Given the description of an element on the screen output the (x, y) to click on. 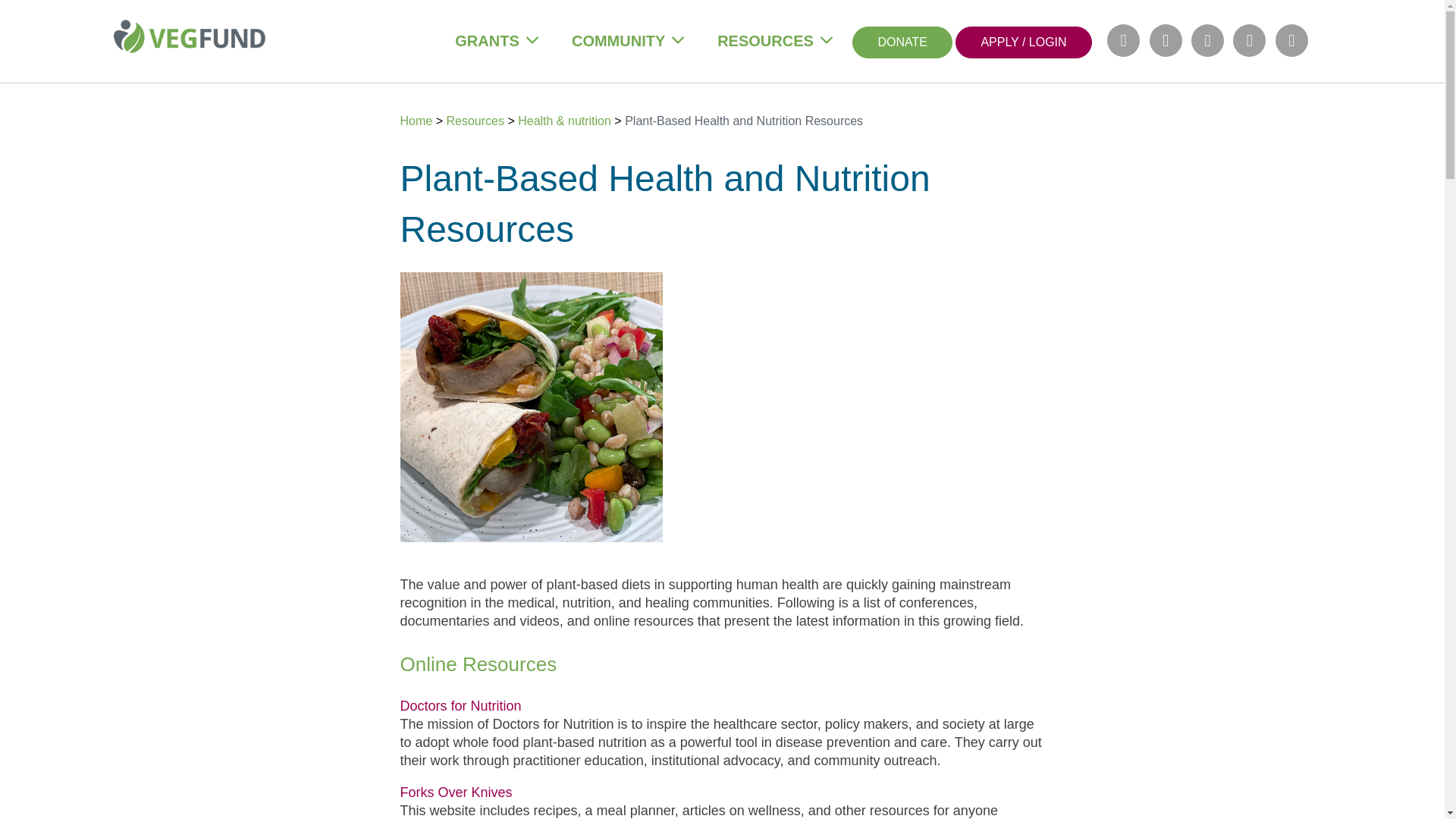
DONATE (901, 41)
Resources (475, 120)
LinkedIn (1207, 40)
Community (618, 40)
VegFund (188, 37)
Forks Over Knives (456, 792)
Facebook (1123, 40)
GRANTS (486, 40)
RESOURCES (765, 40)
Instagram (1166, 40)
Doctors for Nutrition (460, 705)
Resources (765, 40)
Grants (486, 40)
Plant-Based Health and Nutrition Resources (743, 120)
Twitter (1249, 40)
